Given the description of an element on the screen output the (x, y) to click on. 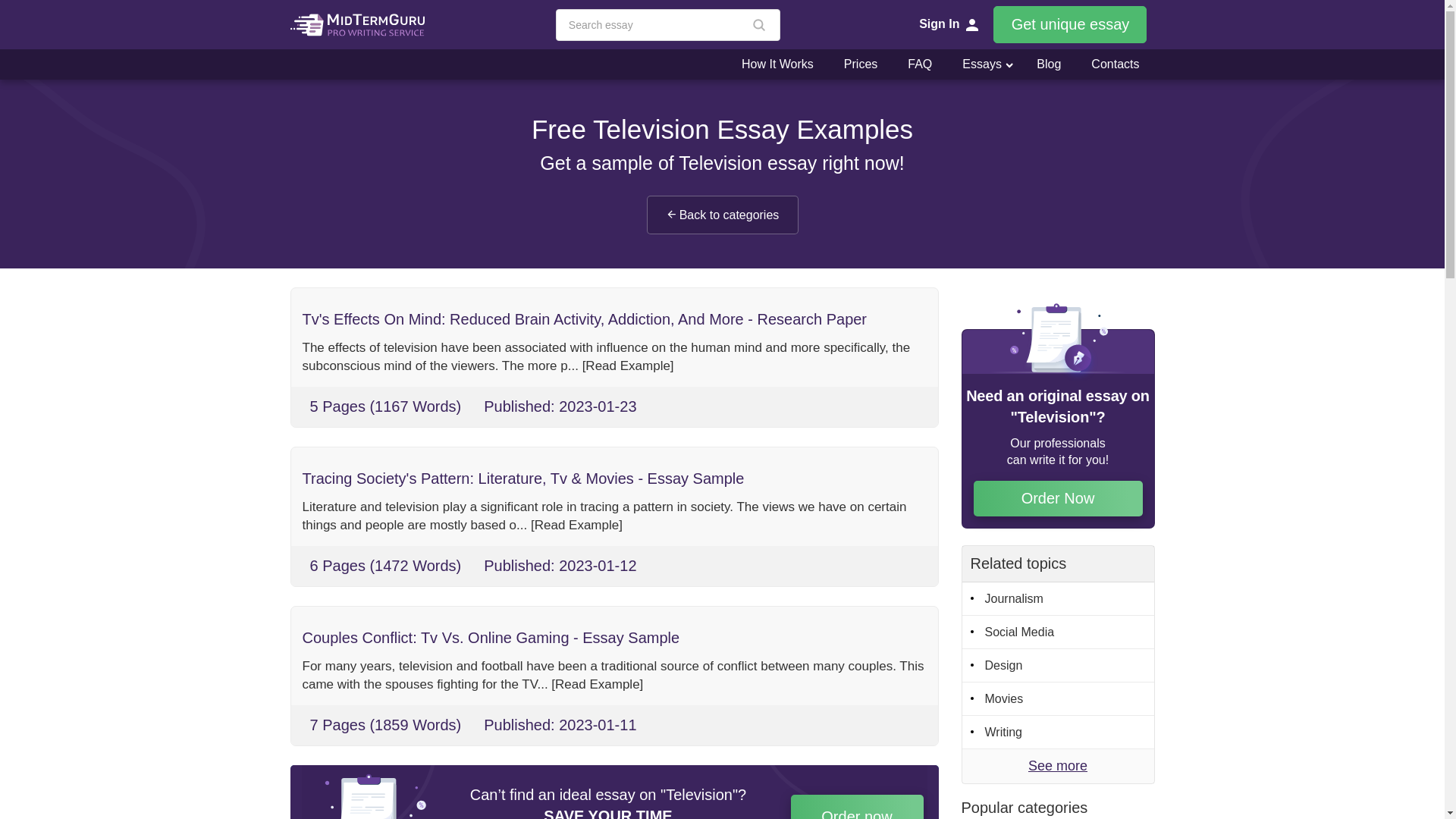
Get unique essay (1069, 24)
Prices (860, 64)
FAQ (919, 64)
Blog (1048, 64)
Contacts (1114, 64)
How It Works (777, 64)
Essays (975, 63)
